Given the description of an element on the screen output the (x, y) to click on. 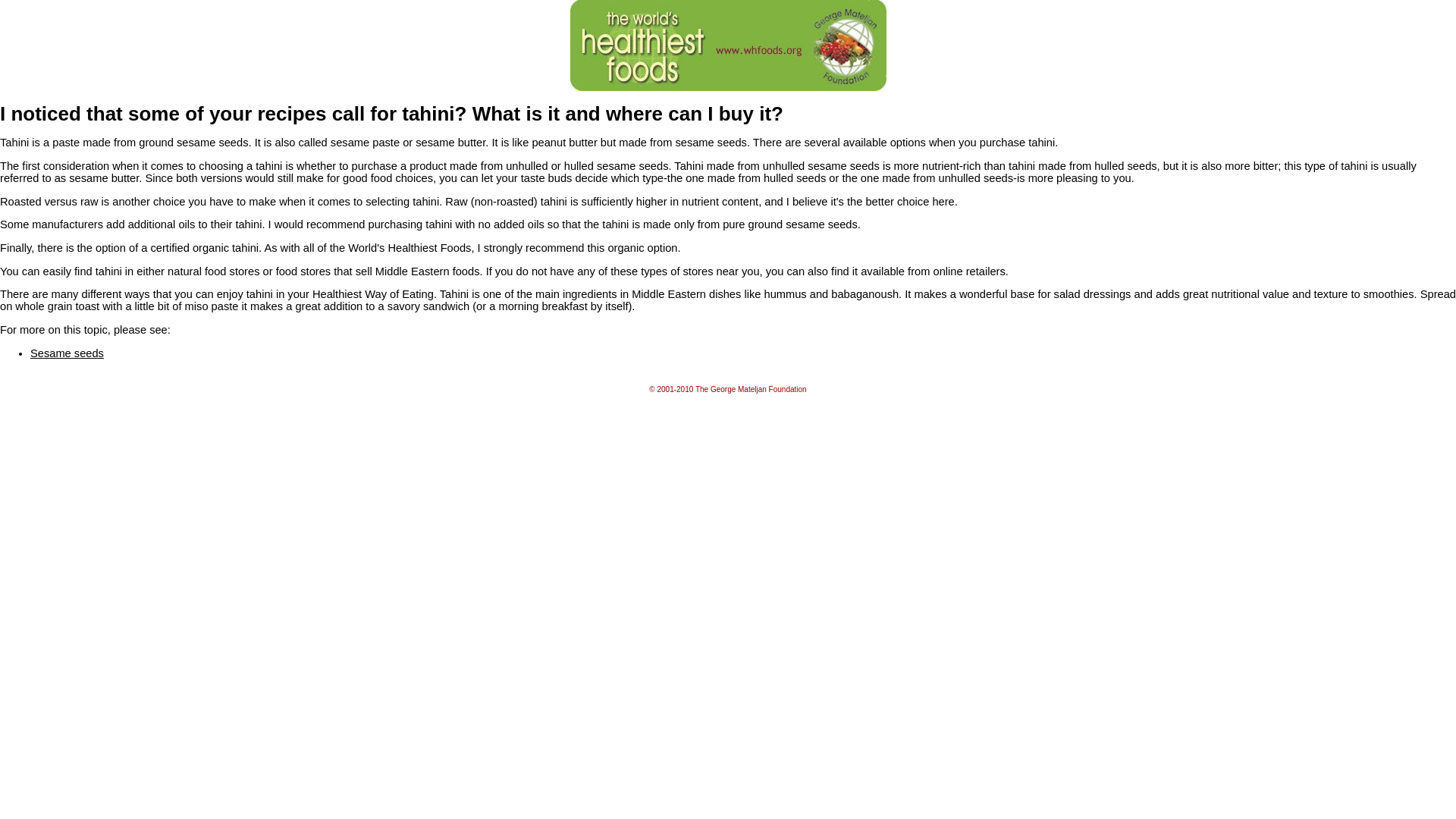
Sesame seeds (66, 353)
